Given the description of an element on the screen output the (x, y) to click on. 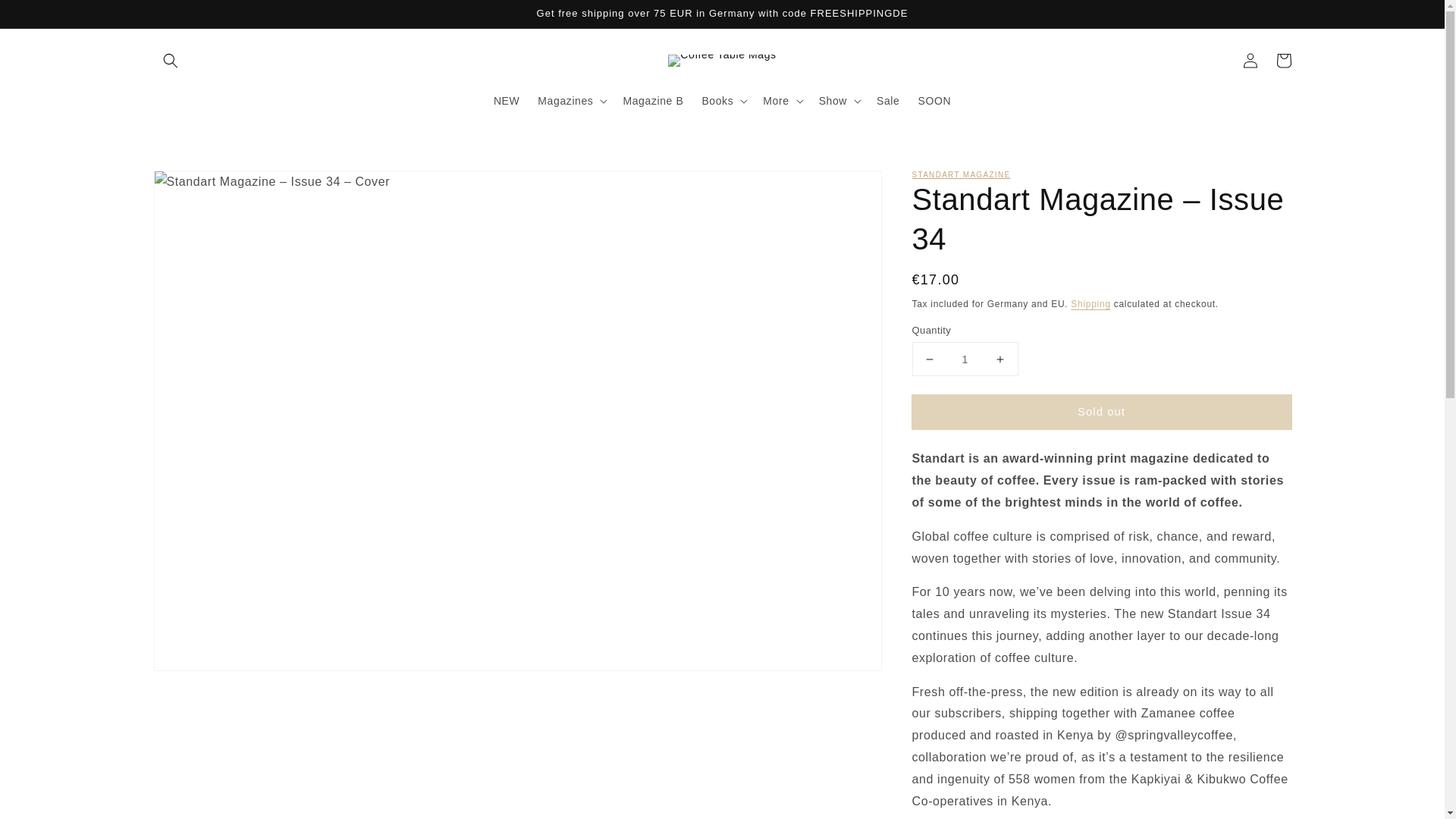
Standart Magazine (960, 174)
1 (964, 359)
NEW (506, 101)
Skip to content (45, 16)
